Given the description of an element on the screen output the (x, y) to click on. 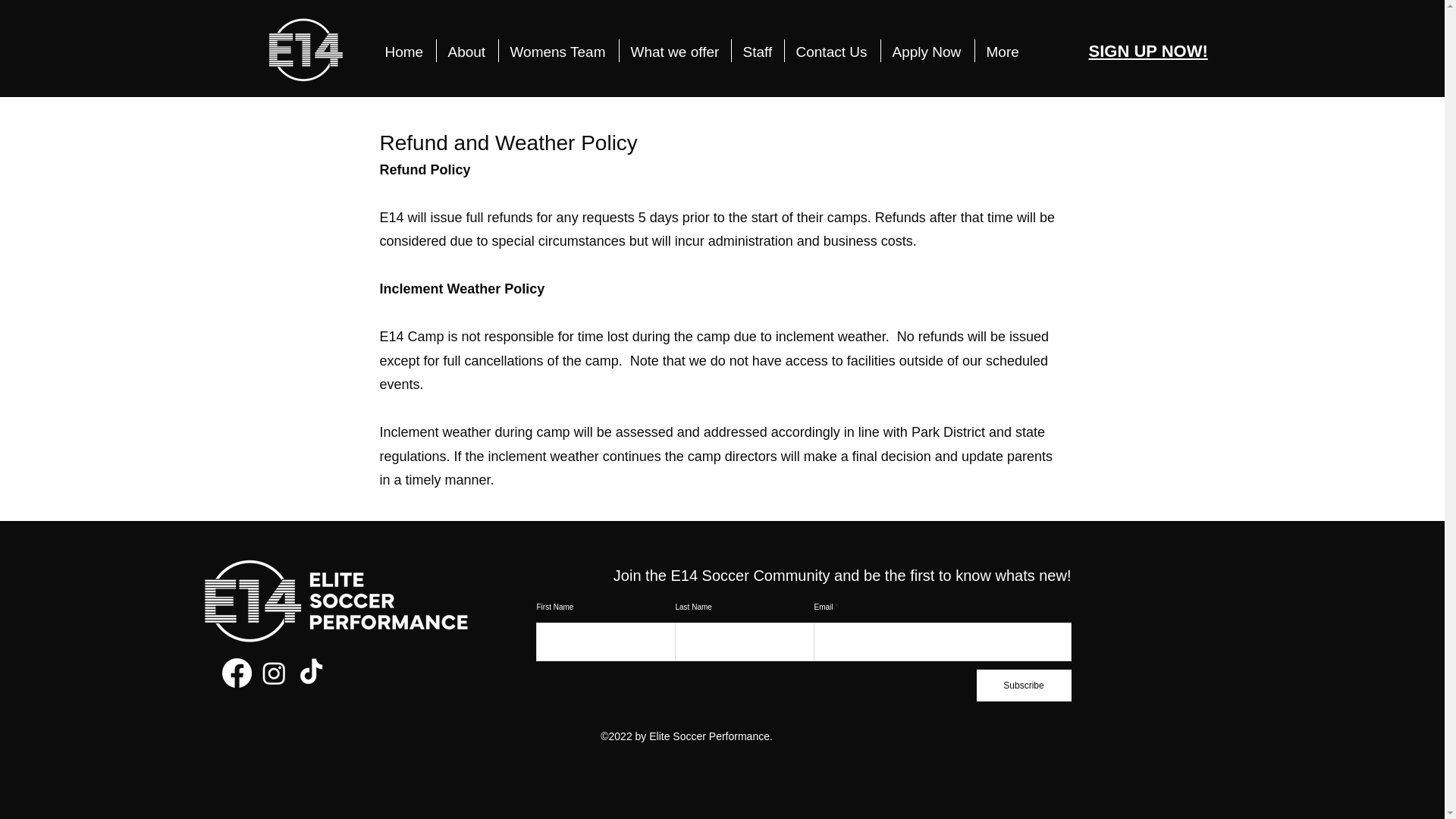
Contact Us (831, 50)
Home (403, 50)
About (466, 50)
Subscribe (1023, 685)
What we offer (674, 50)
Womens Team (558, 50)
Staff (756, 50)
SIGN UP NOW! (1148, 50)
Apply Now (927, 50)
